Given the description of an element on the screen output the (x, y) to click on. 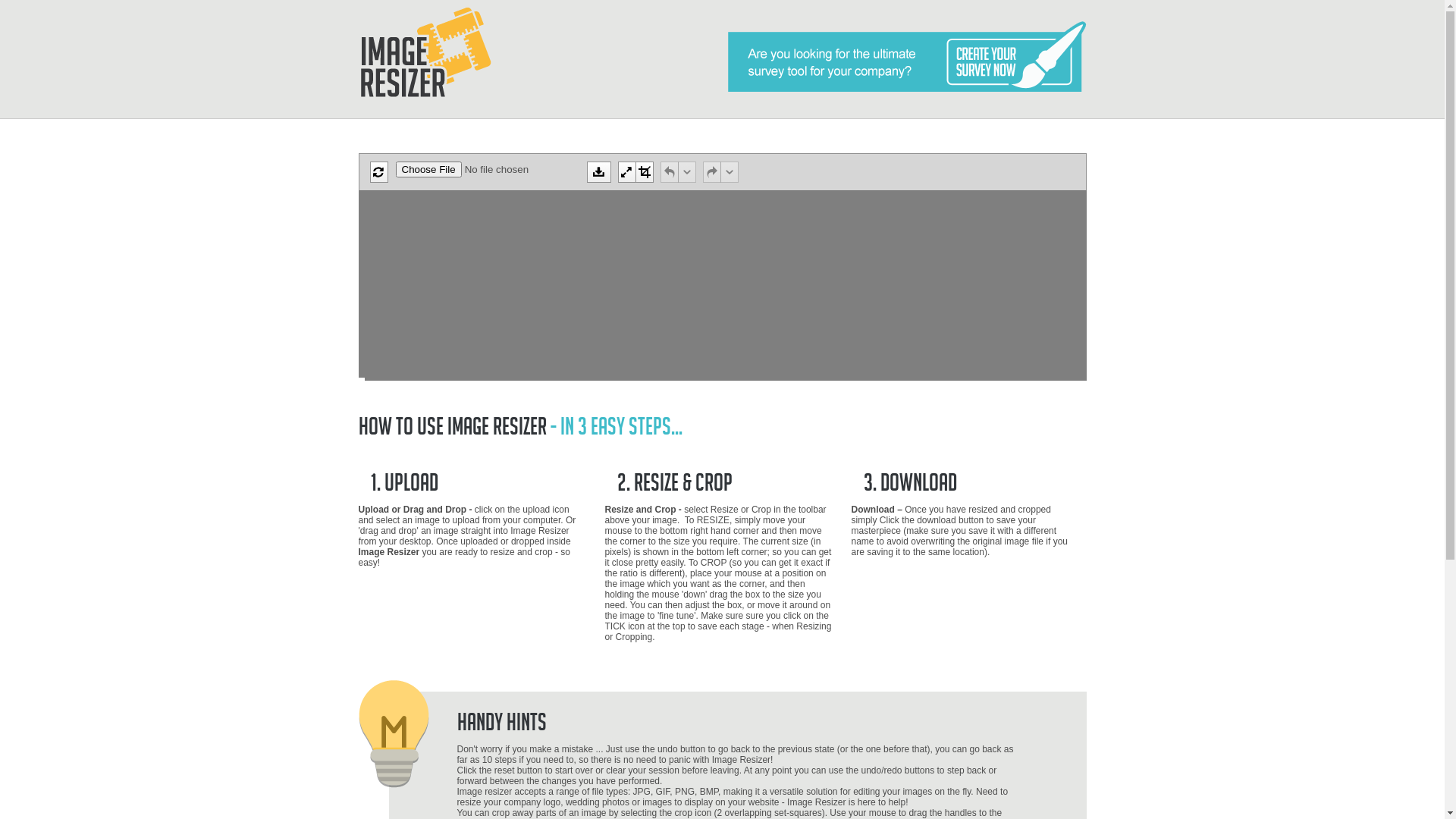
Redo Element type: hover (711, 171)
Download Element type: hover (598, 171)
Crop Element type: hover (644, 171)
Undo Element type: hover (668, 171)
Surveys in Seconds Element type: hover (907, 56)
Reset Element type: hover (379, 171)
Resize Element type: hover (626, 171)
